Given the description of an element on the screen output the (x, y) to click on. 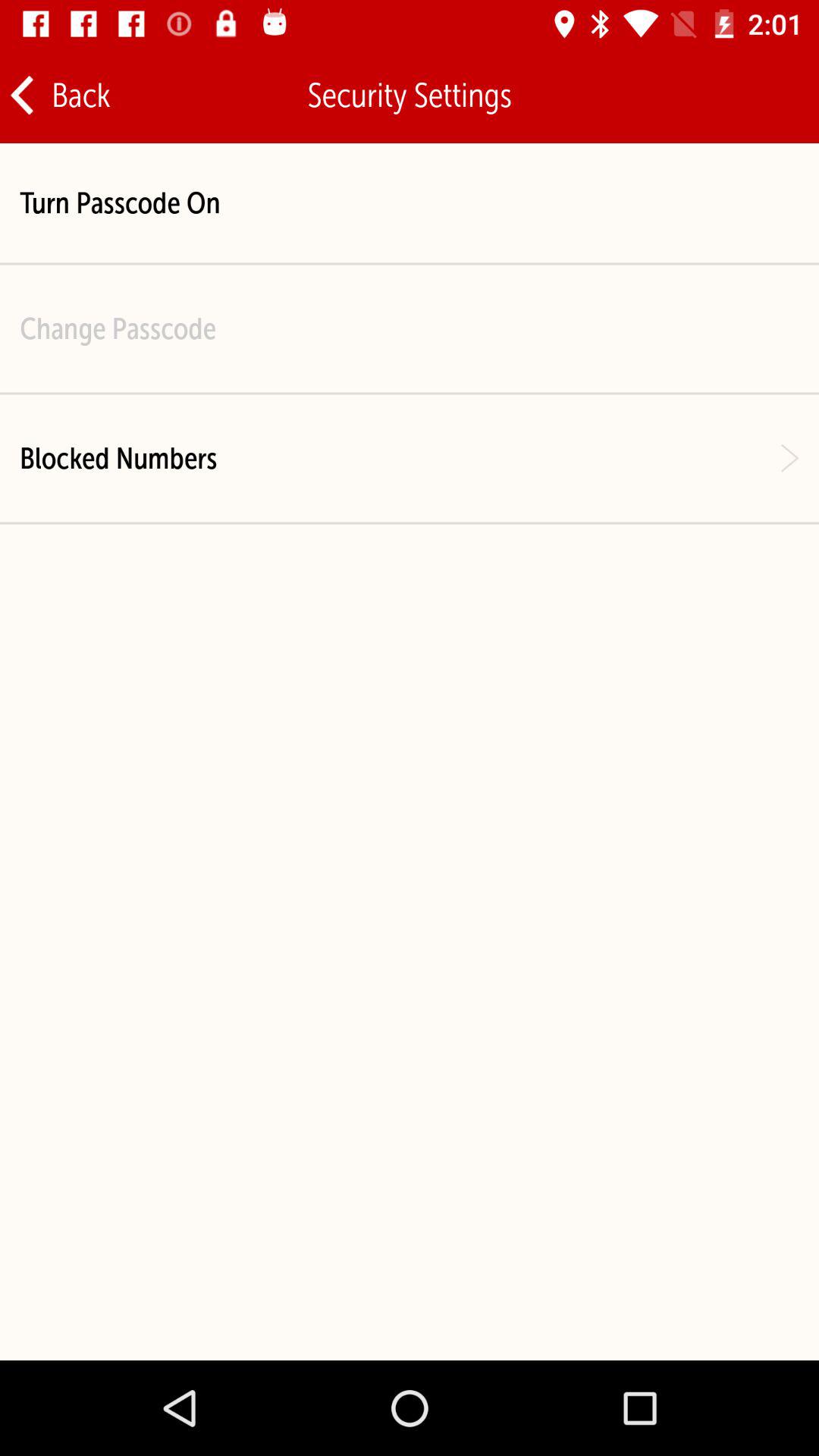
scroll until turn passcode on icon (119, 202)
